Given the description of an element on the screen output the (x, y) to click on. 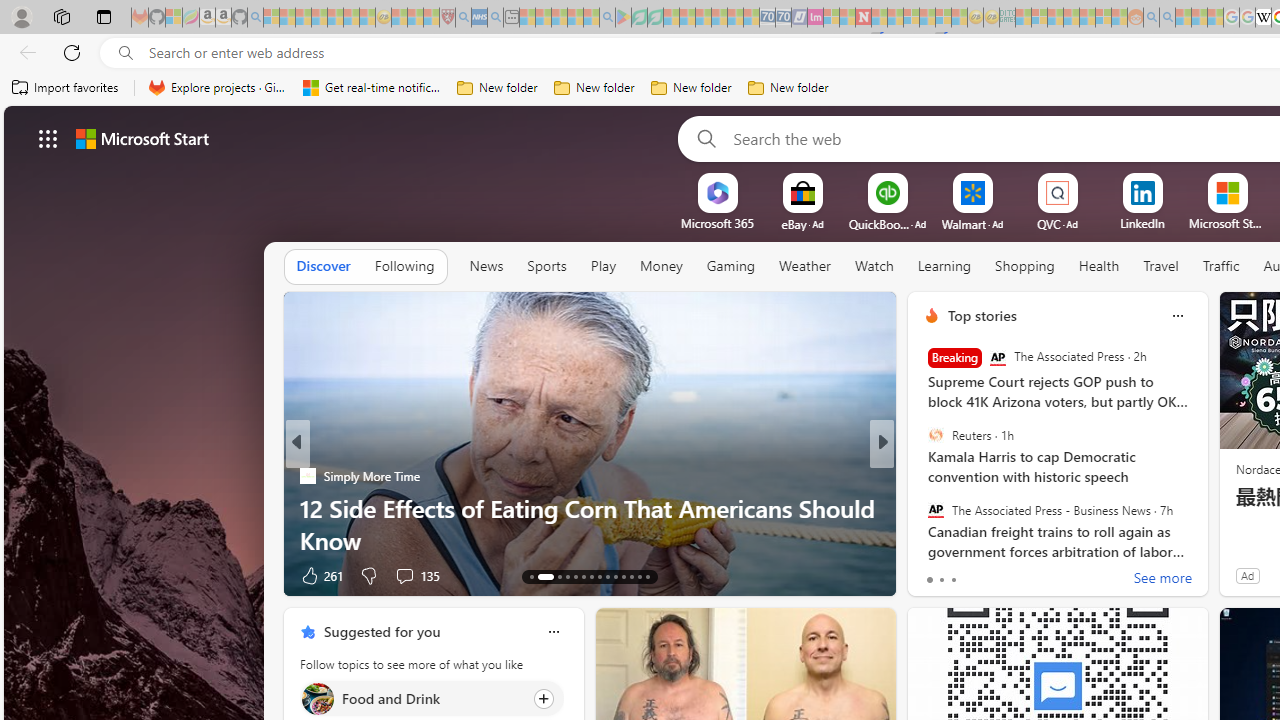
Recipes - MSN - Sleeping (399, 17)
Travel (1160, 267)
Shopping (1025, 267)
14 Common Myths Debunked By Scientific Facts - Sleeping (895, 17)
364 Like (936, 574)
View comments 67 Comment (1013, 575)
AutomationID: tab-23 (623, 576)
684 Like (936, 574)
New Report Confirms 2023 Was Record Hot | Watch - Sleeping (335, 17)
LinkedIn (1142, 223)
Class: icon-img (553, 632)
AutomationID: tab-14 (539, 576)
View comments 3 Comment (1014, 575)
